Given the description of an element on the screen output the (x, y) to click on. 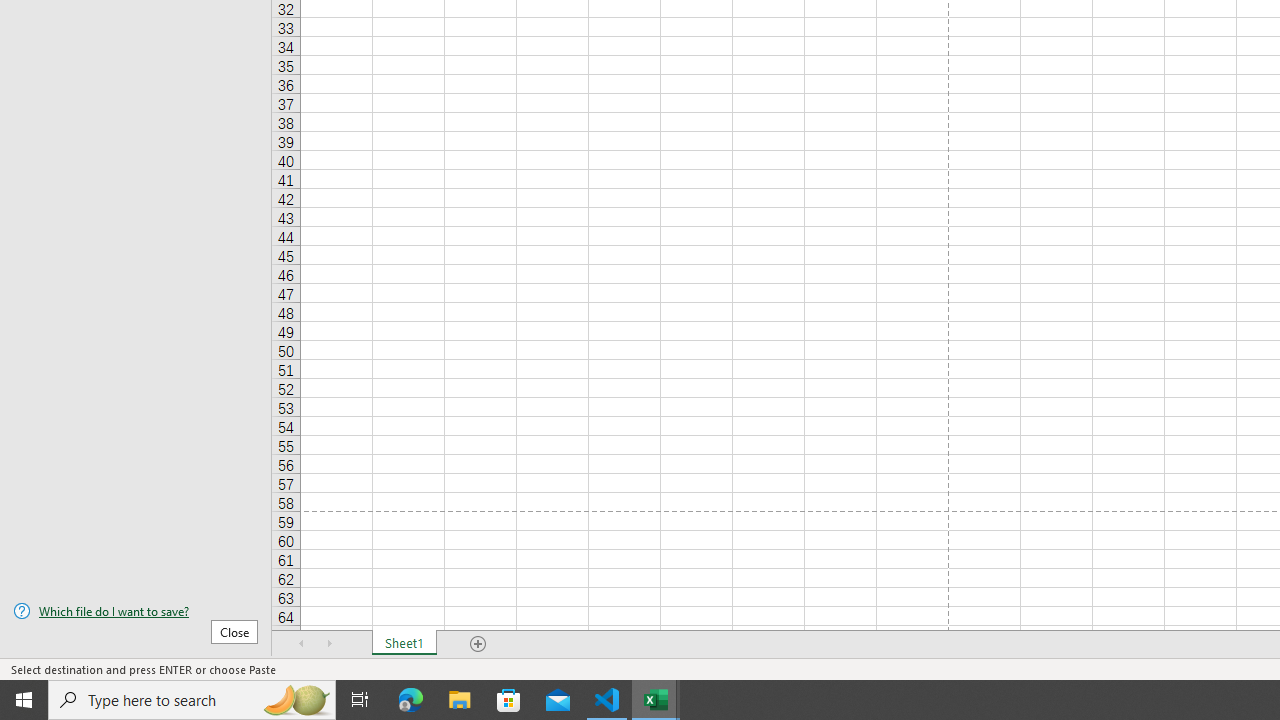
Which file do I want to save? (136, 611)
